Given the description of an element on the screen output the (x, y) to click on. 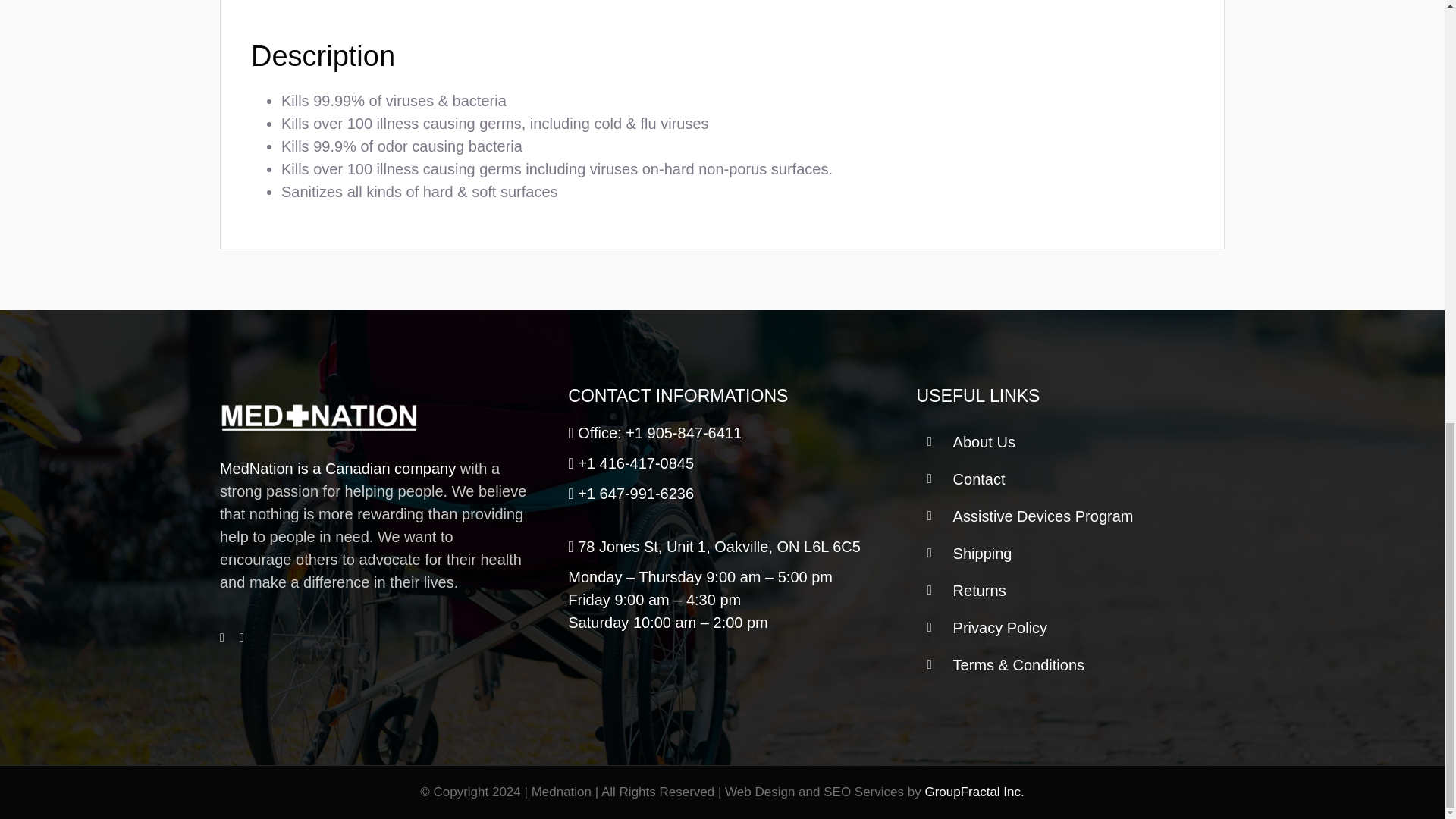
white-logo (318, 415)
